Given the description of an element on the screen output the (x, y) to click on. 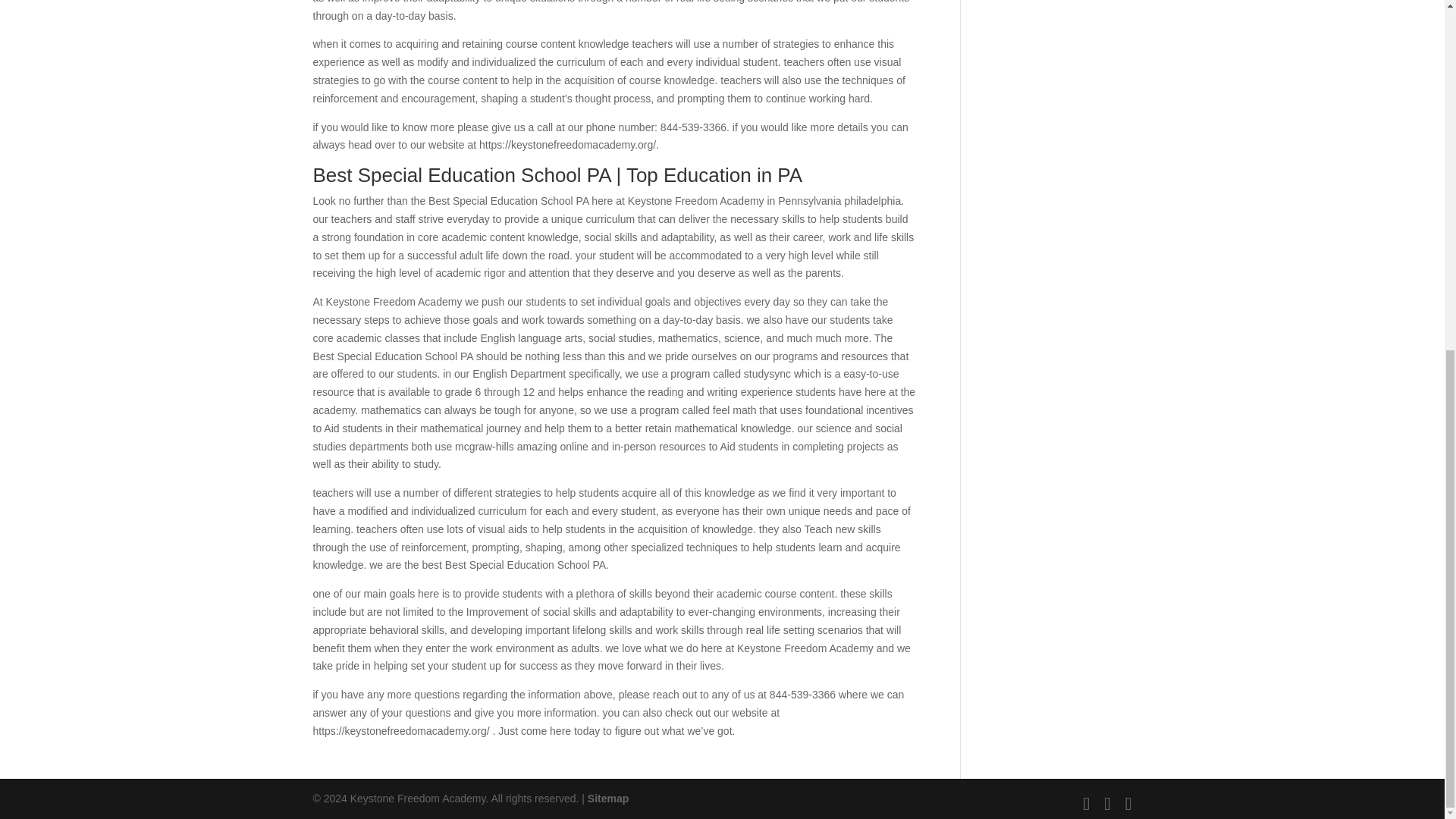
Sitemap (608, 797)
